Given the description of an element on the screen output the (x, y) to click on. 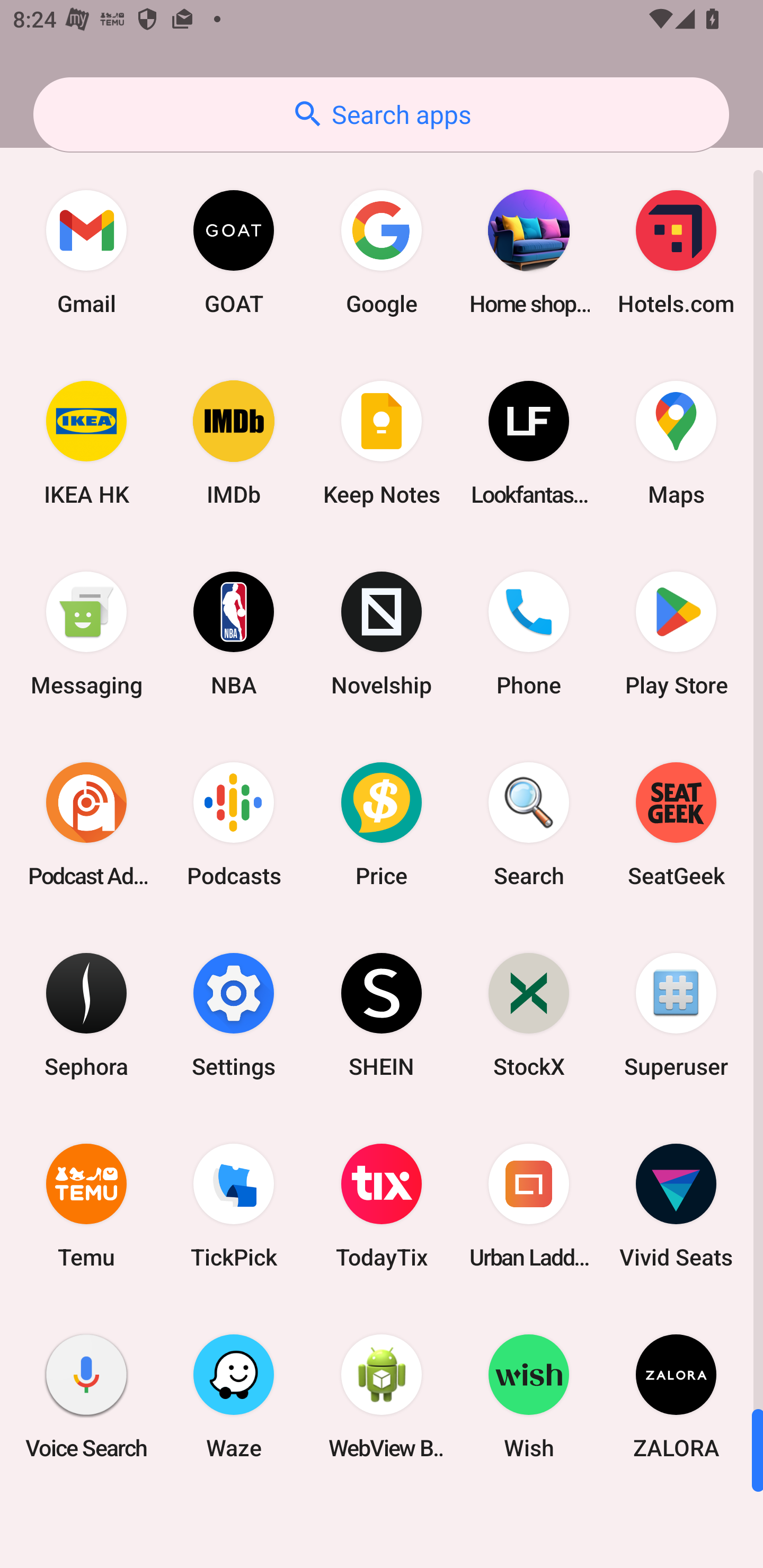
  Search apps (381, 114)
Gmail (86, 252)
GOAT (233, 252)
Google (381, 252)
Home shopping (528, 252)
Hotels.com (676, 252)
IKEA HK (86, 442)
IMDb (233, 442)
Keep Notes (381, 442)
Lookfantastic (528, 442)
Maps (676, 442)
Messaging (86, 633)
NBA (233, 633)
Novelship (381, 633)
Phone (528, 633)
Play Store (676, 633)
Podcast Addict (86, 823)
Podcasts (233, 823)
Price (381, 823)
Search (528, 823)
SeatGeek (676, 823)
Sephora (86, 1014)
Settings (233, 1014)
SHEIN (381, 1014)
StockX (528, 1014)
Superuser (676, 1014)
Temu (86, 1205)
TickPick (233, 1205)
TodayTix (381, 1205)
Urban Ladder (528, 1205)
Vivid Seats (676, 1205)
Voice Search (86, 1396)
Waze (233, 1396)
WebView Browser Tester (381, 1396)
Wish (528, 1396)
ZALORA (676, 1396)
